Given the description of an element on the screen output the (x, y) to click on. 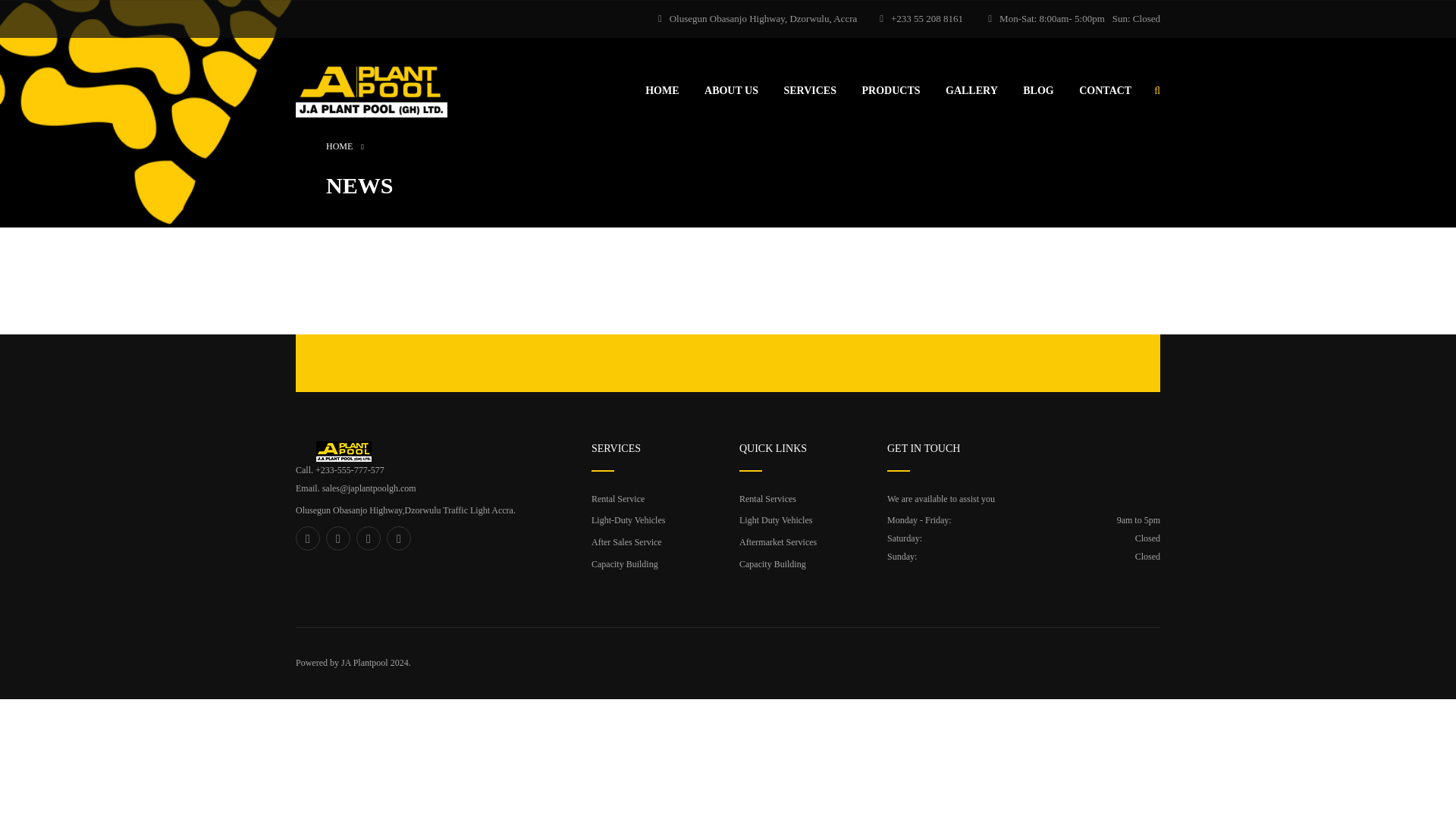
Light-Duty Vehicles (628, 520)
CONTACT (1104, 90)
GALLERY (970, 90)
BLOG (1037, 90)
japlantpoolgh.com -  (370, 88)
Rental Service (618, 498)
Light Duty Vehicles (775, 520)
Capacity Building (624, 563)
ABOUT US (731, 90)
Rental Services (767, 498)
PRODUCTS (890, 90)
Home (339, 145)
HOME (339, 145)
After Sales Service (626, 542)
HOME (661, 90)
